Given the description of an element on the screen output the (x, y) to click on. 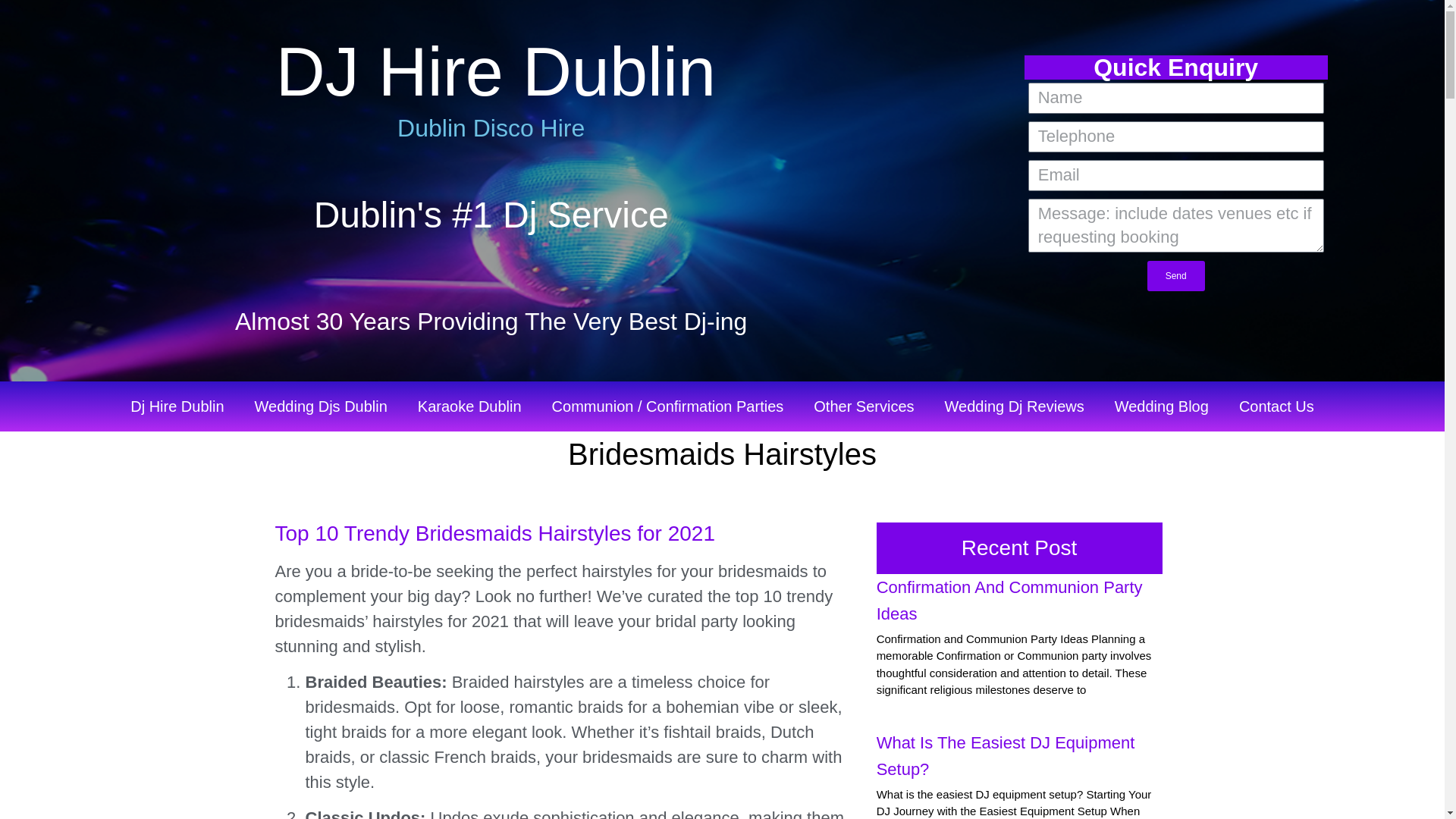
Other Services (862, 406)
Wedding Blog (1161, 406)
Send (1176, 276)
What Is The Easiest DJ Equipment Setup? (1005, 755)
Confirmation And Communion Party Ideas (1009, 600)
Wedding Djs Dublin (321, 406)
Contact Us (1276, 406)
Wedding Dj Reviews (1014, 406)
Karaoke Dublin (470, 406)
Dj Hire Dublin (176, 406)
